Given the description of an element on the screen output the (x, y) to click on. 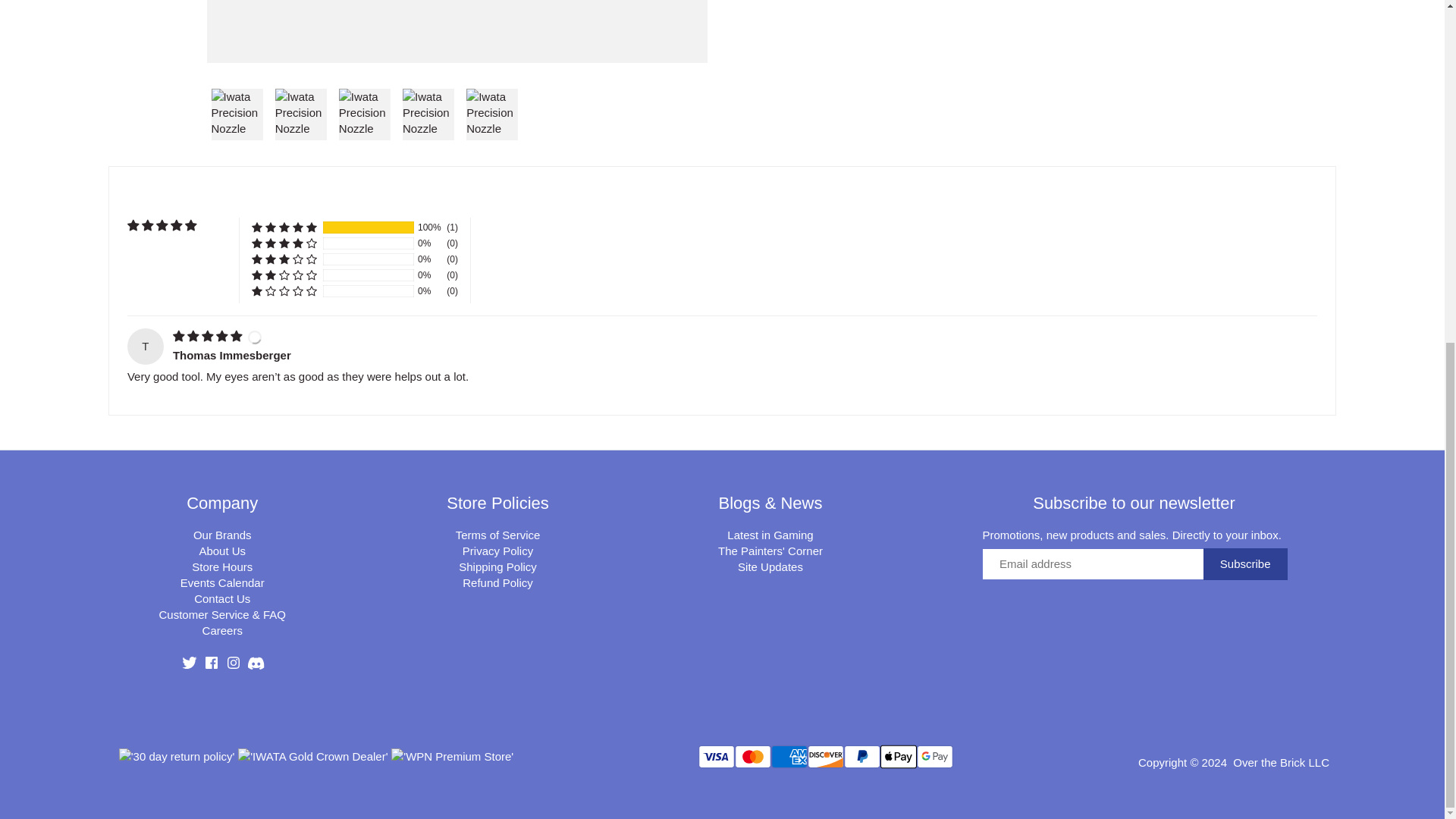
Twitter (189, 662)
Subscribe (1245, 563)
Facebook (211, 662)
Discord (255, 662)
Instagram (233, 662)
